Given the description of an element on the screen output the (x, y) to click on. 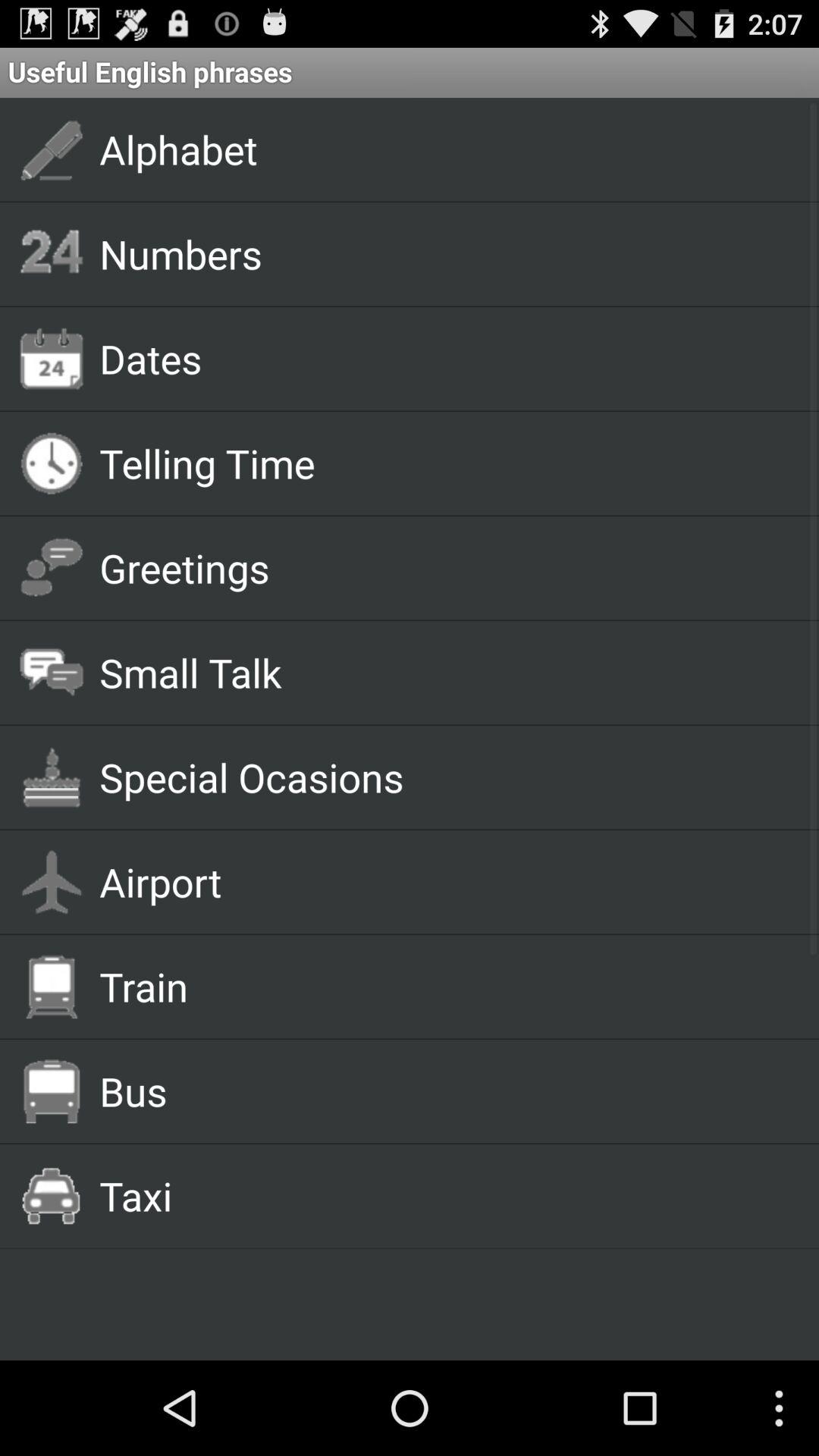
jump to the taxi app (441, 1195)
